Given the description of an element on the screen output the (x, y) to click on. 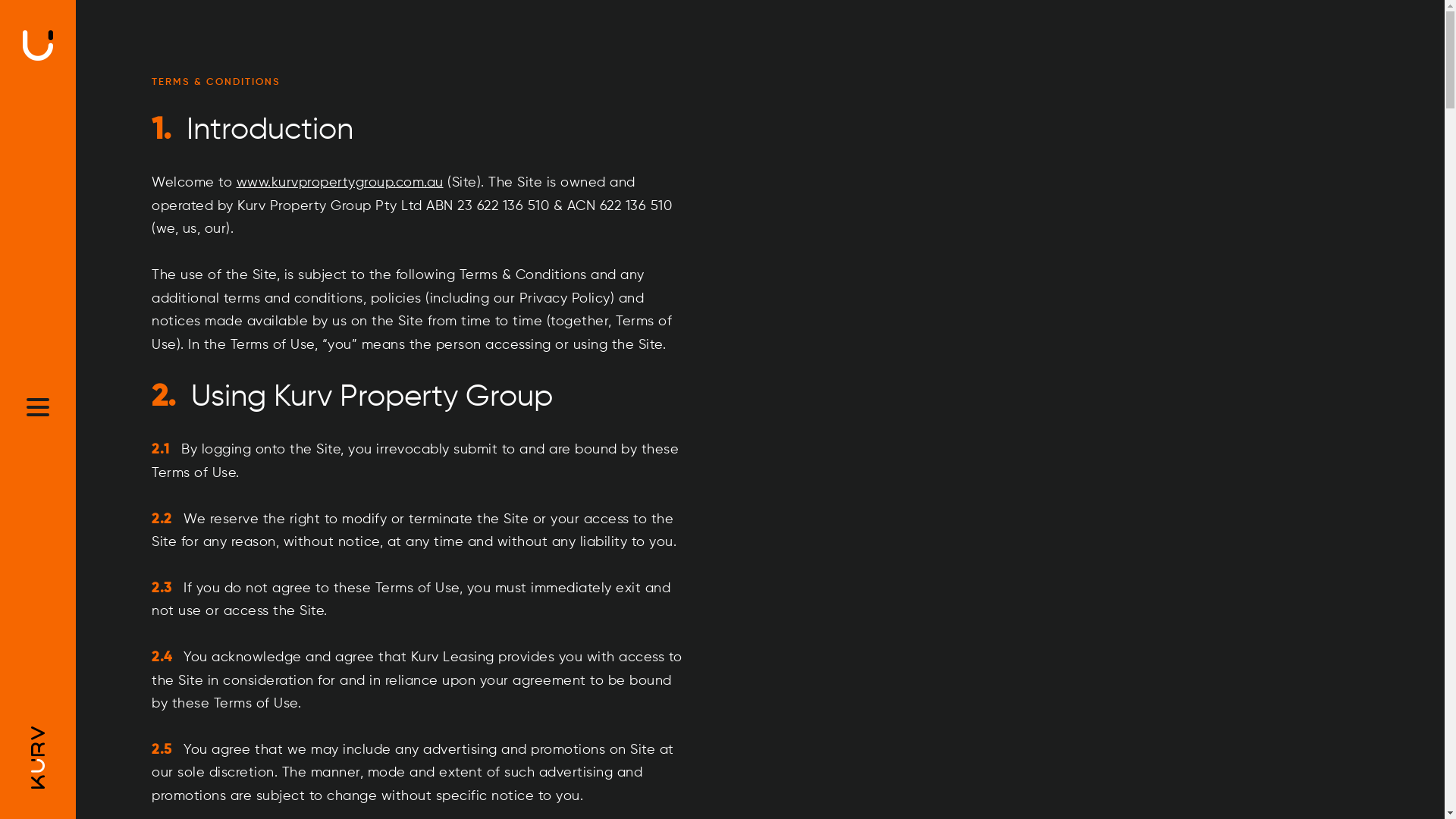
www.kurvpropertygroup.com.au Element type: text (339, 182)
Kurv Property Group Element type: hover (37, 44)
Kurv Property Group Element type: hover (37, 756)
